Given the description of an element on the screen output the (x, y) to click on. 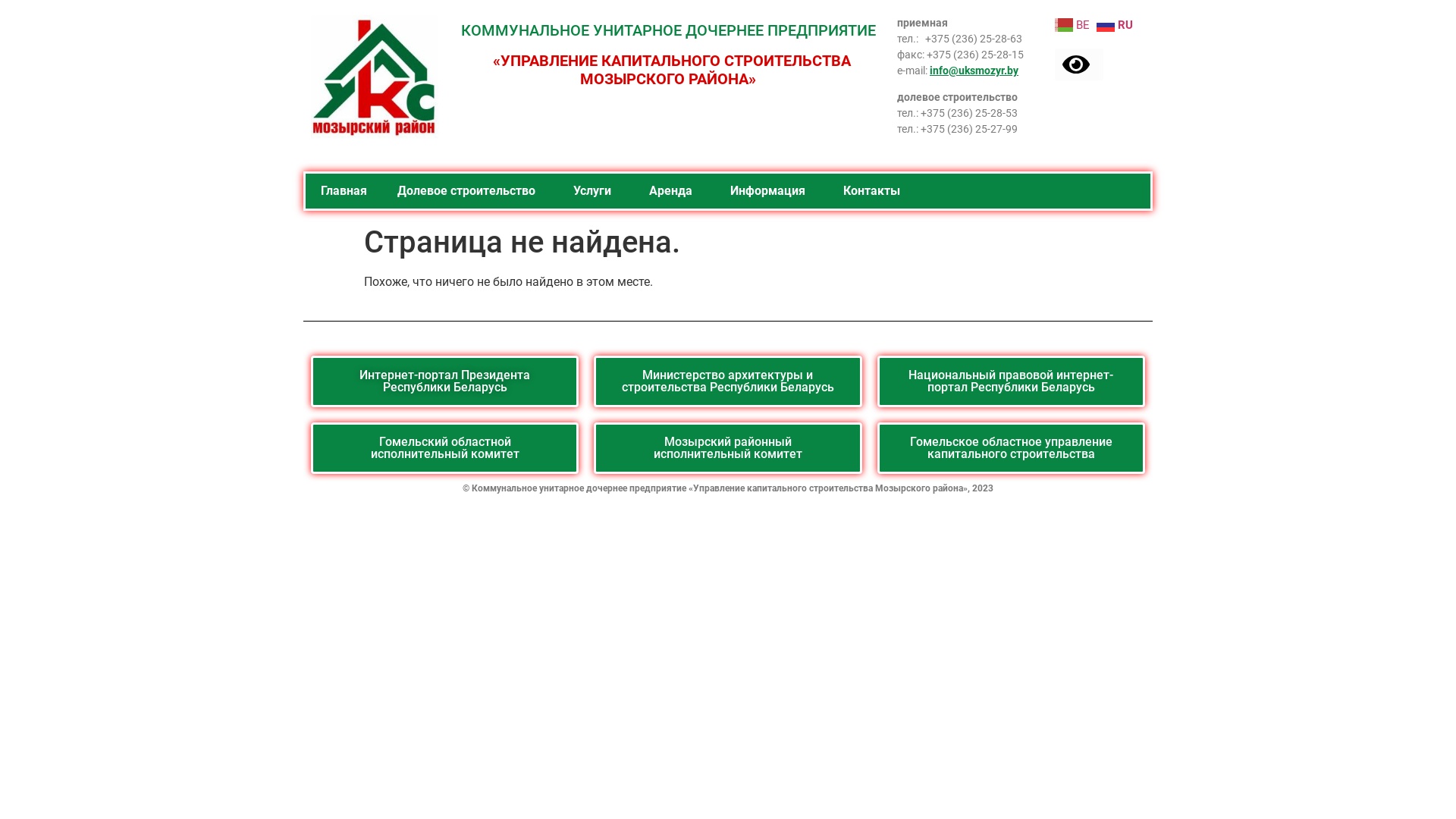
BE Element type: text (1073, 23)
RU Element type: text (1116, 23)
info@uksmozyr.by Element type: text (973, 70)
